Given the description of an element on the screen output the (x, y) to click on. 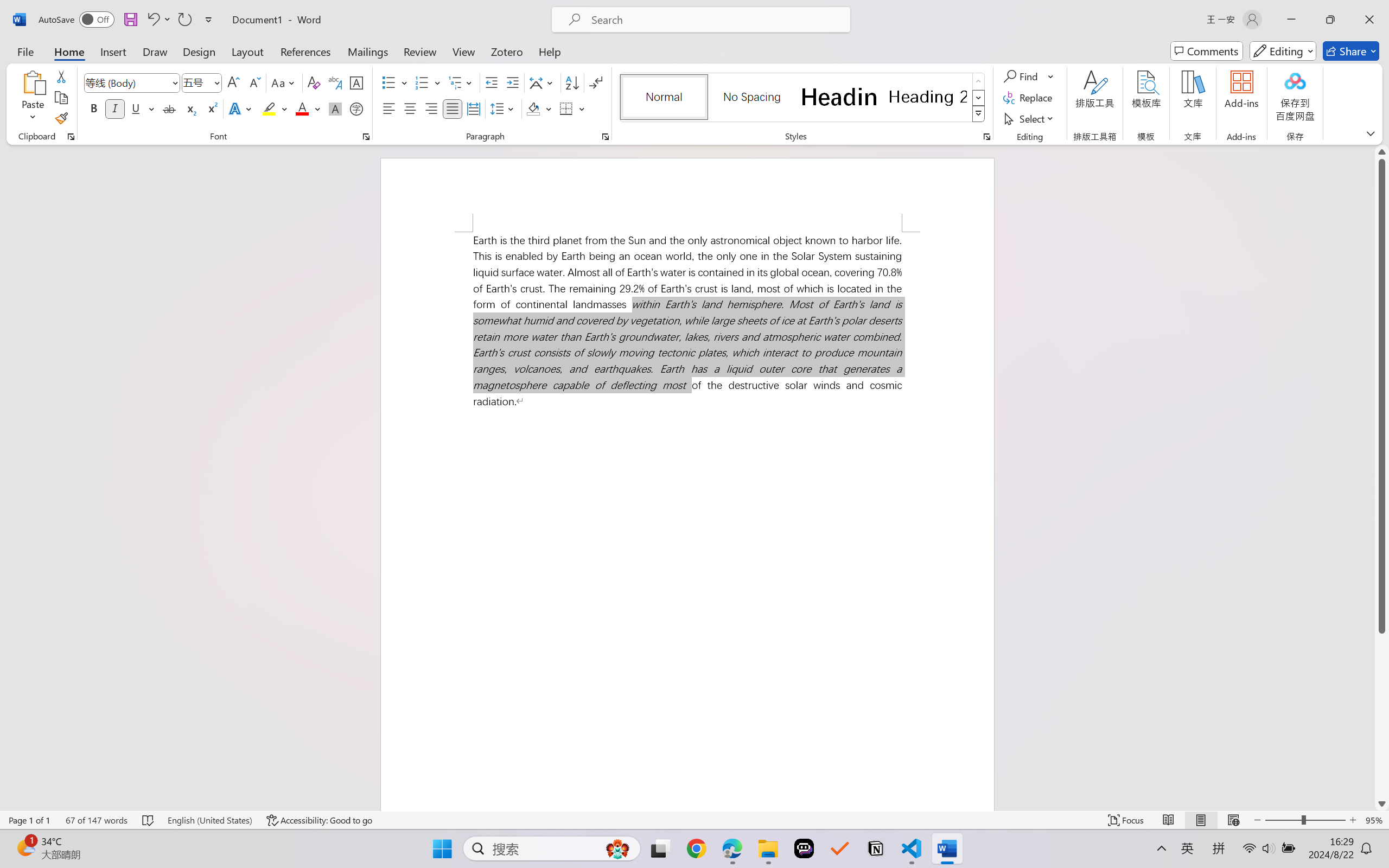
Row up (978, 81)
Justify (452, 108)
Distributed (473, 108)
Open (215, 82)
Align Right (431, 108)
Subscript (190, 108)
Copy (60, 97)
Zoom 95% (1374, 819)
Heading 2 (927, 96)
